Given the description of an element on the screen output the (x, y) to click on. 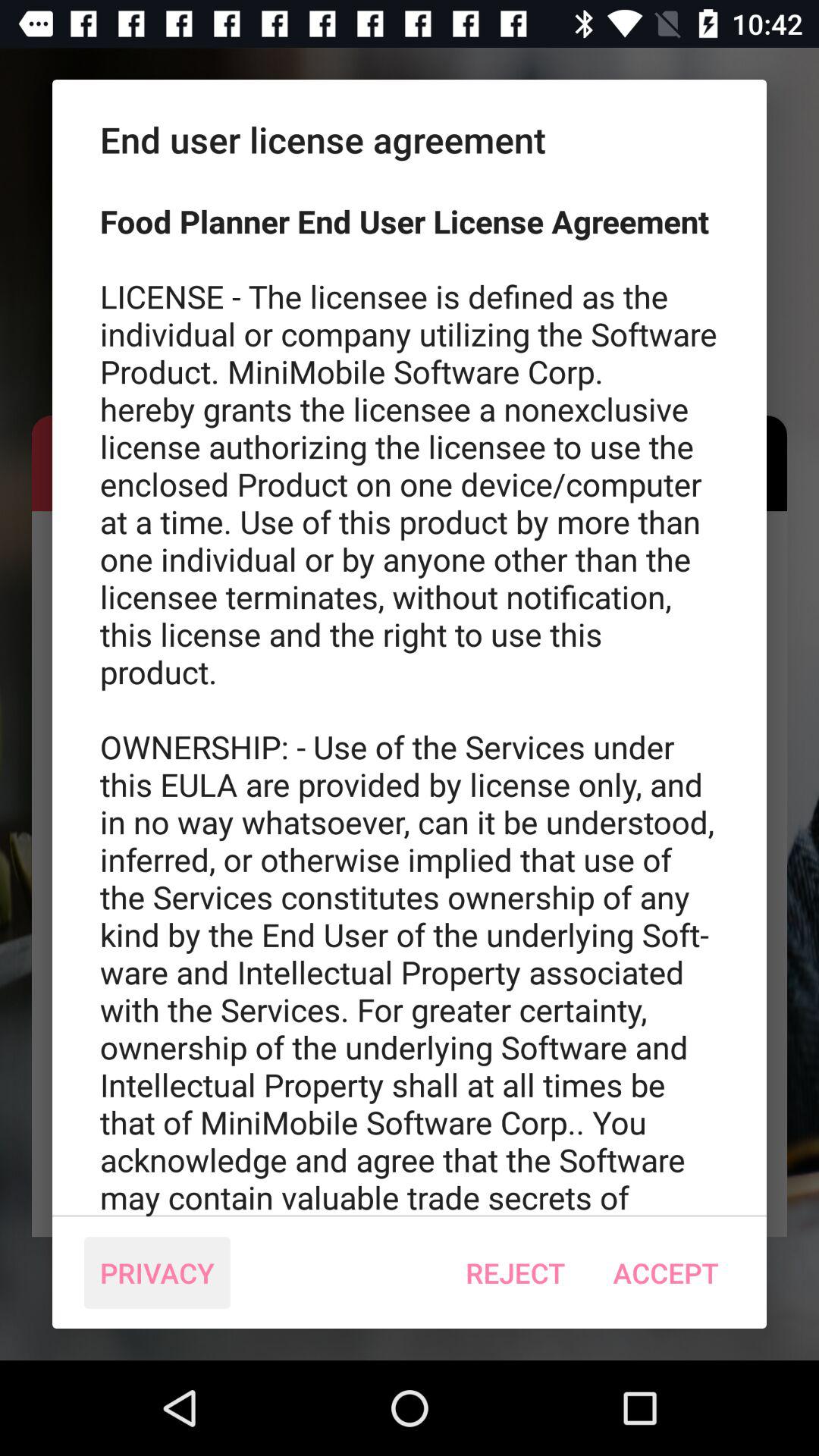
click icon at the bottom (515, 1272)
